Given the description of an element on the screen output the (x, y) to click on. 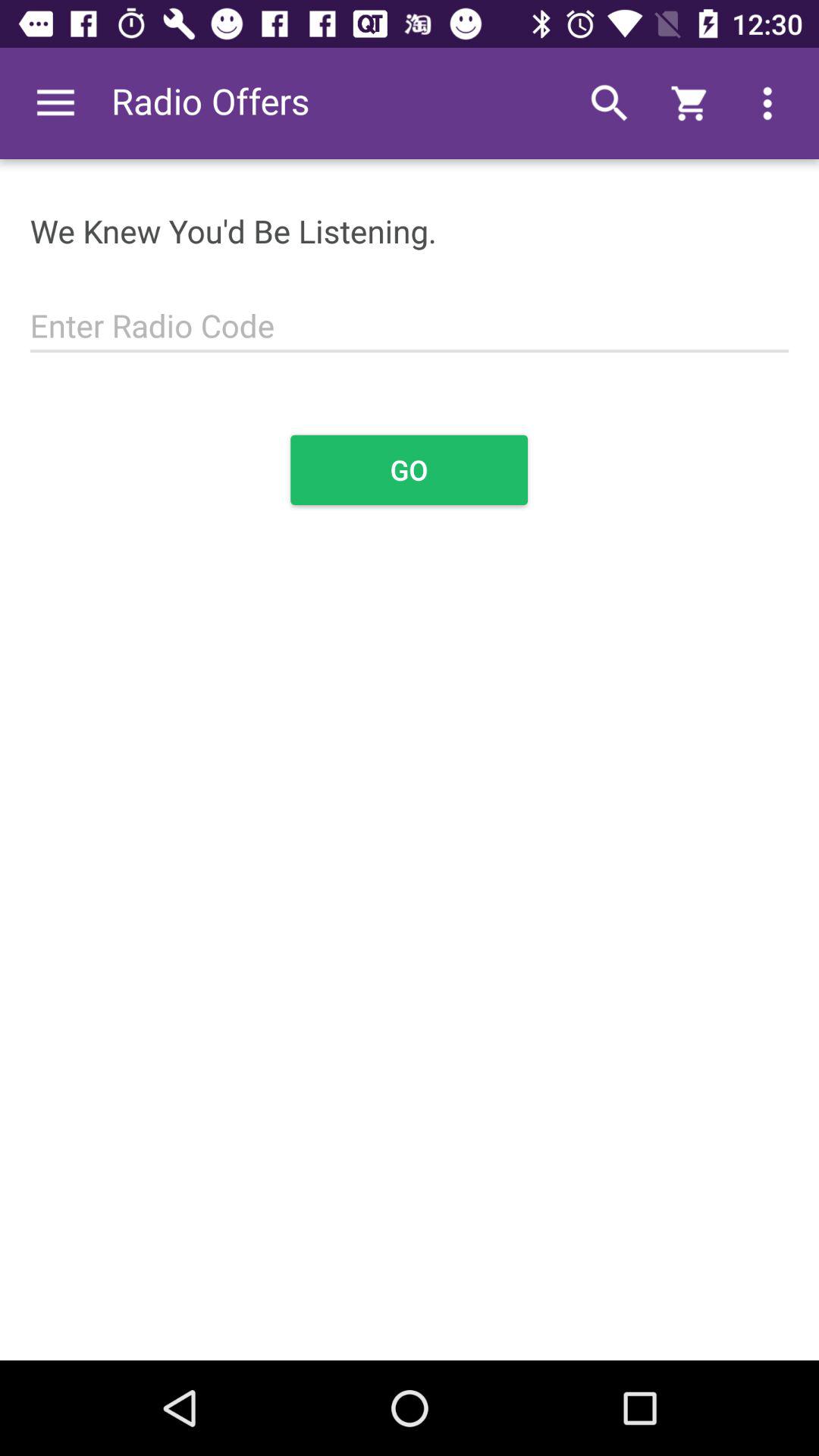
turn on icon above go item (409, 317)
